Given the description of an element on the screen output the (x, y) to click on. 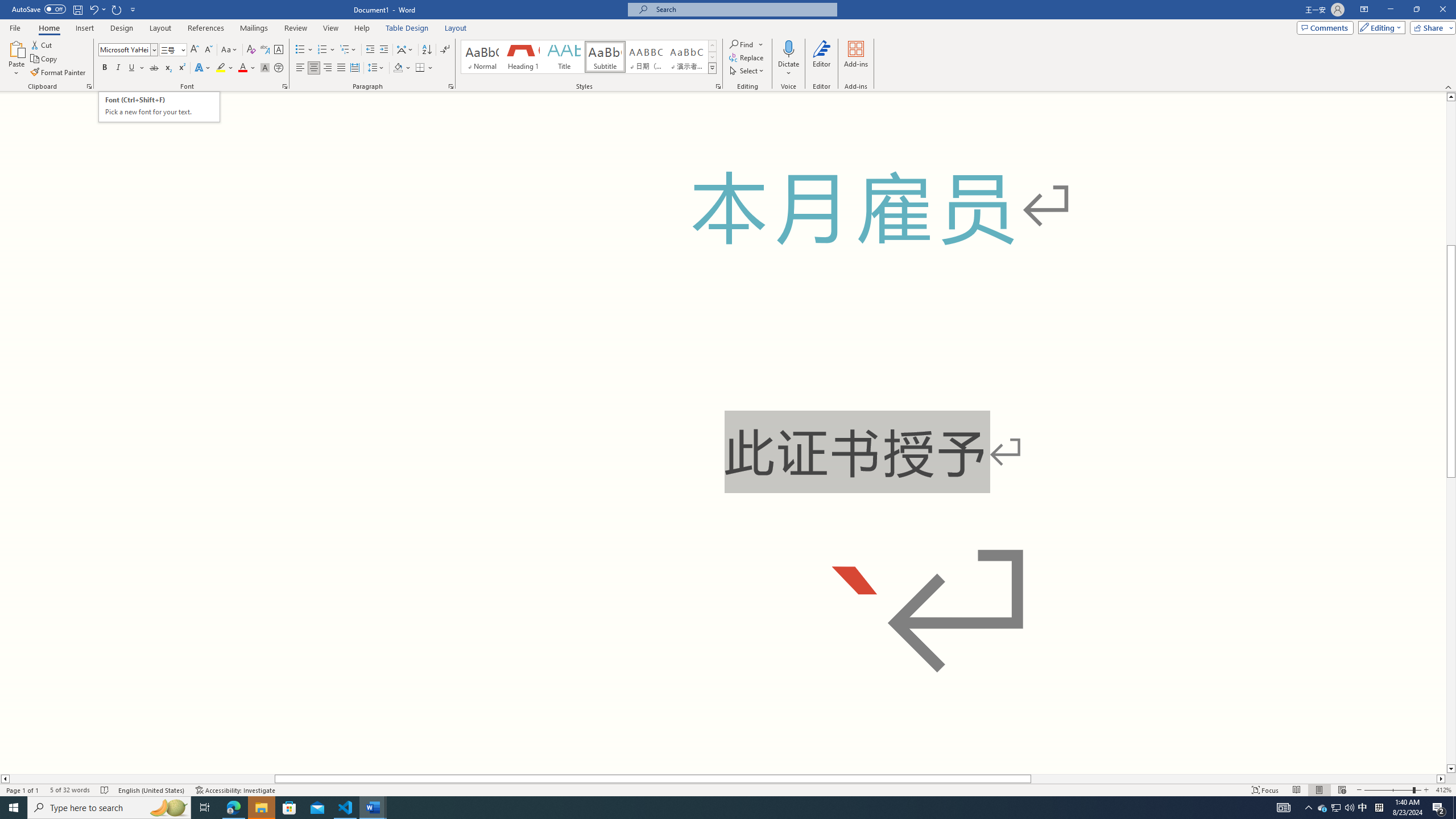
Page Number Page 1 of 1 (22, 790)
